Given the description of an element on the screen output the (x, y) to click on. 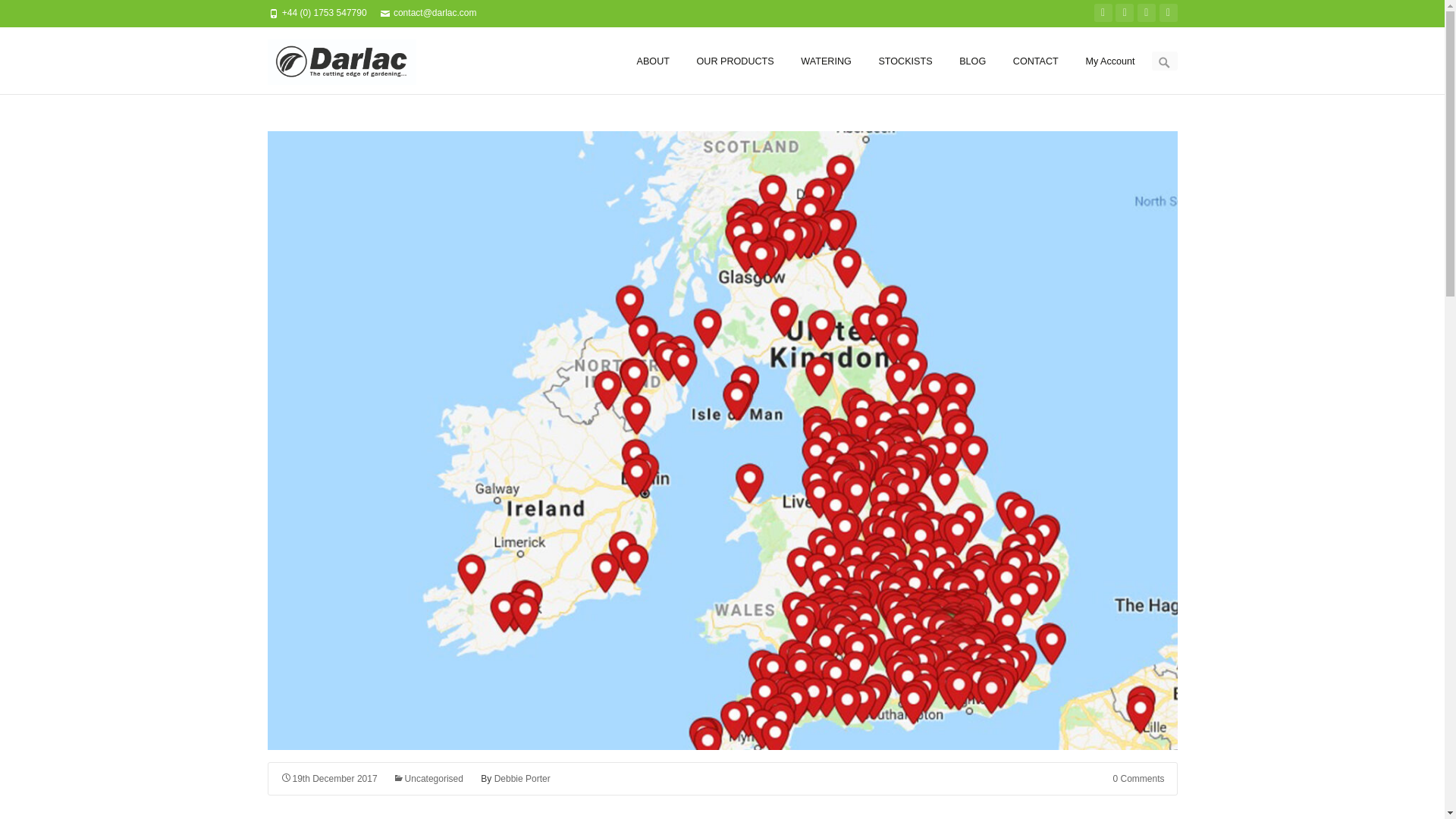
Search for: (1163, 60)
Darlac Ltd (348, 60)
Search (34, 13)
My Account (1109, 61)
instagram (1146, 13)
facebook (1124, 13)
OUR PRODUCTS (735, 61)
STOCKISTS (904, 61)
0 Comments (1137, 778)
